Given the description of an element on the screen output the (x, y) to click on. 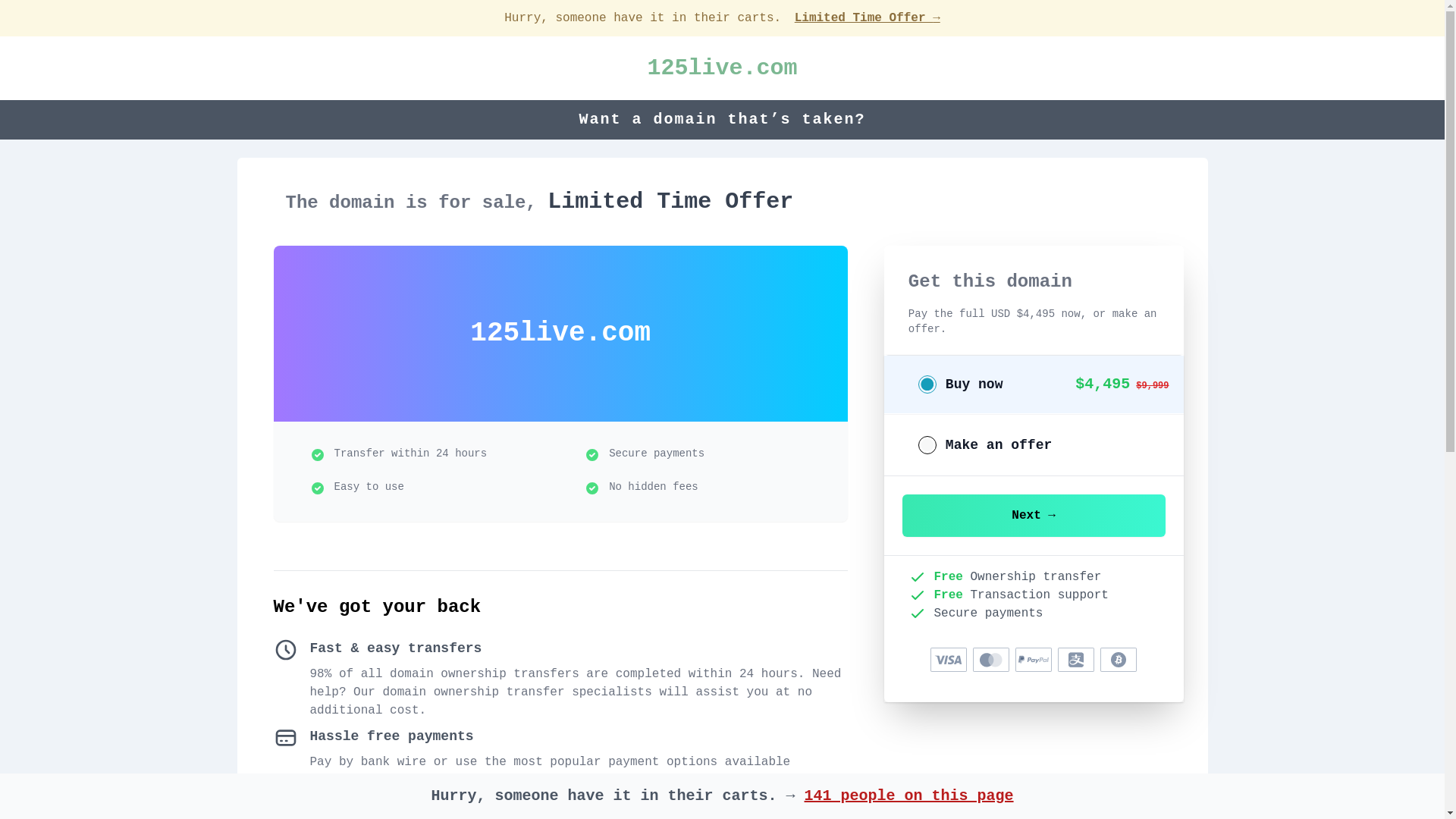
125live.com Element type: text (721, 67)
125live.com Element type: text (721, 68)
